Given the description of an element on the screen output the (x, y) to click on. 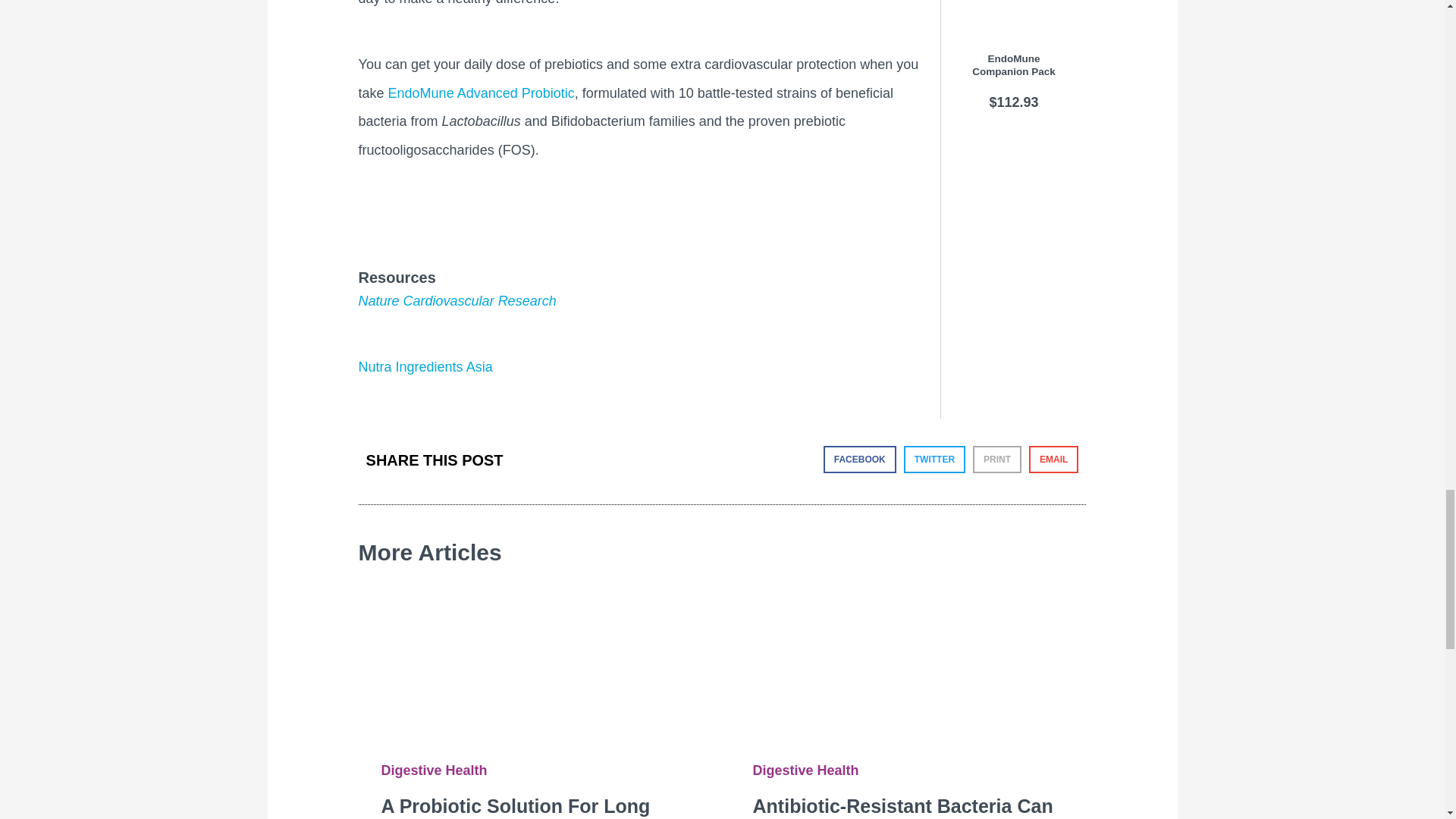
A Probiotic Solution For Long COVID (536, 655)
